Given the description of an element on the screen output the (x, y) to click on. 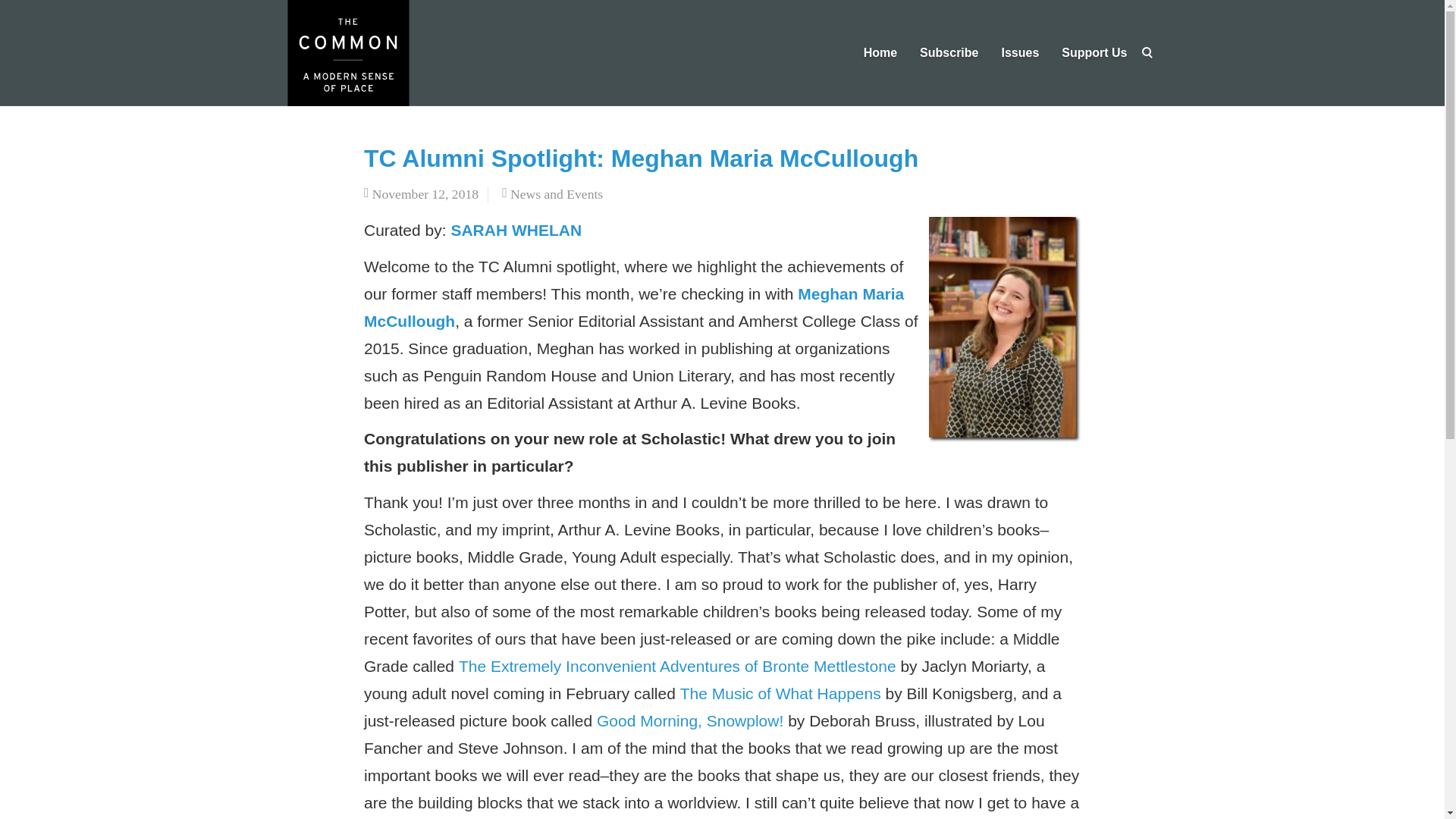
News and Events (556, 193)
Permalink to TC Alumni Spotlight: Meghan Maria McCullough (641, 157)
The Extremely Inconvenient Adventures of Bronte Mettlestone (675, 665)
The Music of What Happens (777, 692)
TC Alumni Spotlight: Meghan Maria McCullough (641, 157)
Good Morning, Snowplow! (687, 720)
Meghan Maria McCullough (634, 307)
SARAH WHELAN (514, 230)
